Given the description of an element on the screen output the (x, y) to click on. 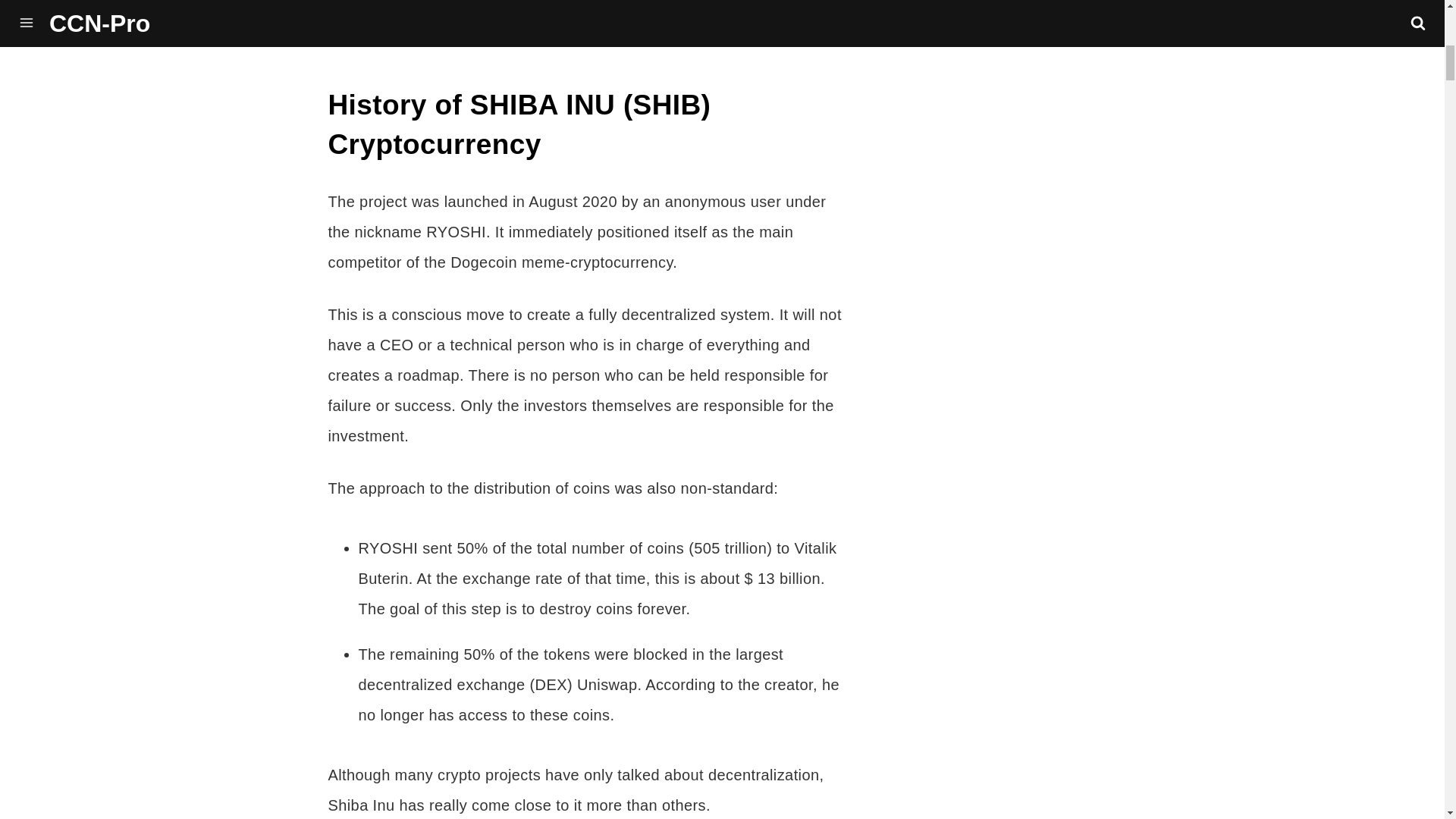
What is cryptocurrency (1239, 760)
Go back to top (68, 795)
